Given the description of an element on the screen output the (x, y) to click on. 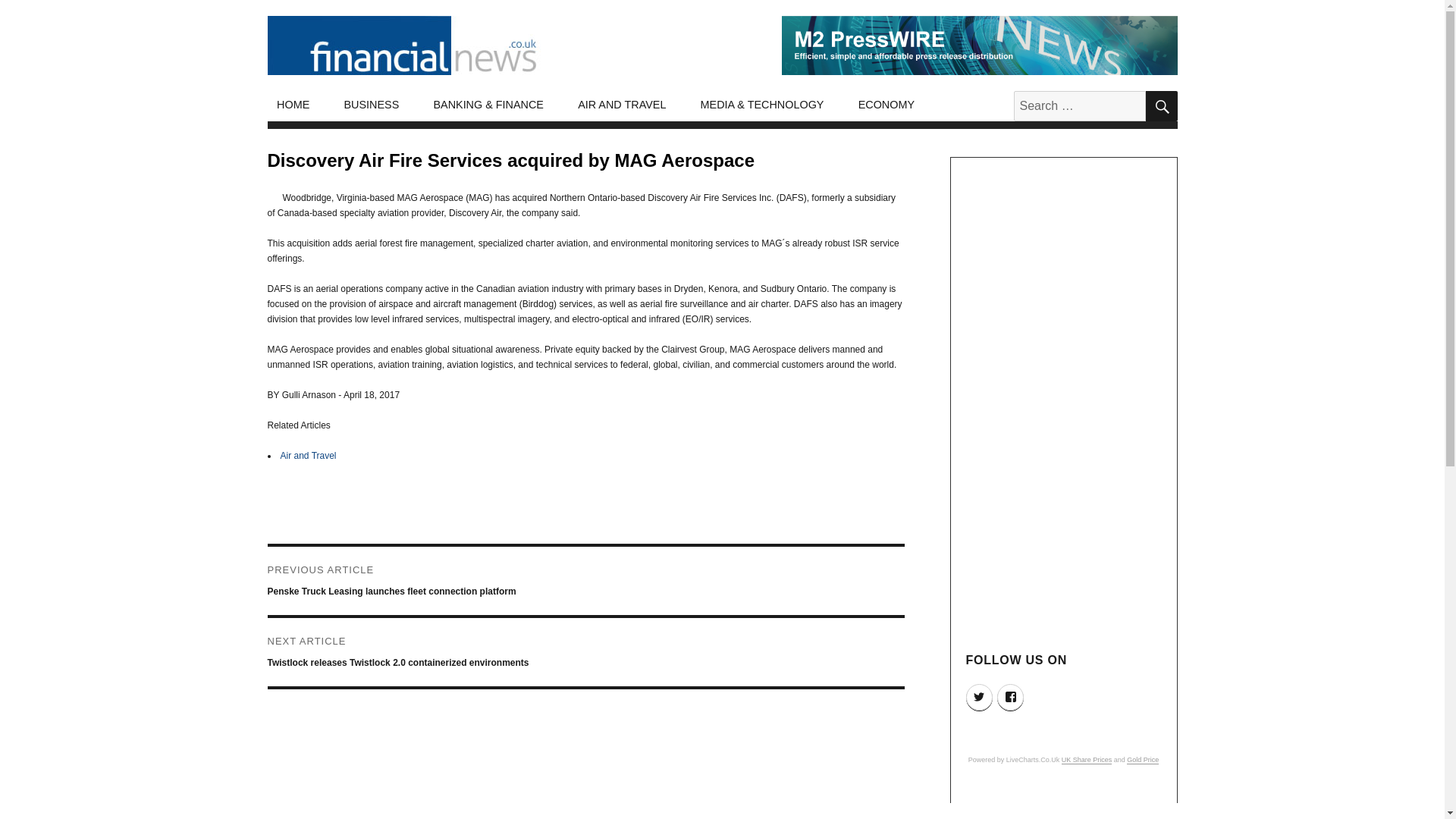
TWITTER (979, 696)
HOME (292, 104)
Gold Price (1142, 759)
SEARCH (1160, 105)
BUSINESS (371, 104)
Advertisement (588, 786)
FACEBOOK (1010, 696)
ECONOMY (886, 104)
AIR AND TRAVEL (622, 104)
Air and Travel (308, 455)
UK Share Prices (1086, 759)
Advertisement (1065, 804)
